Given the description of an element on the screen output the (x, y) to click on. 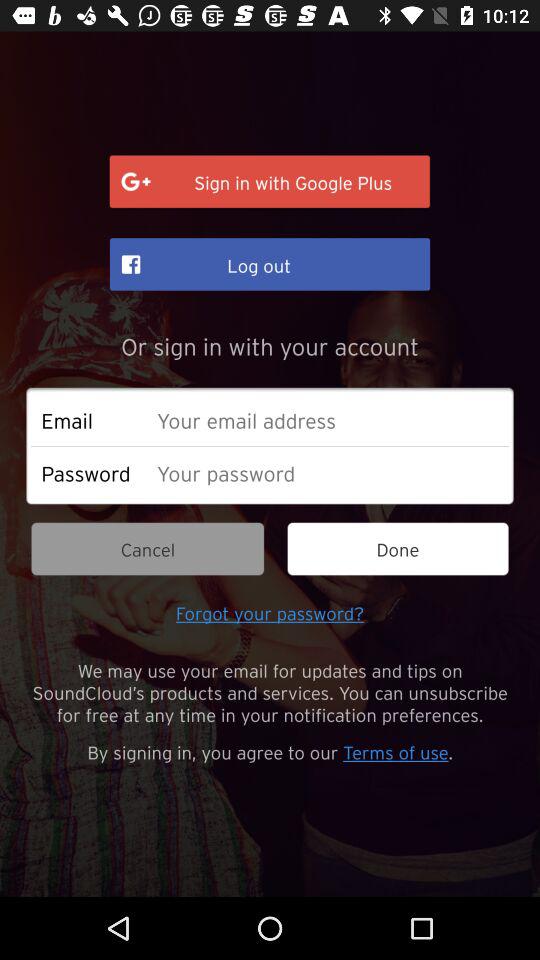
swipe to done (397, 548)
